Given the description of an element on the screen output the (x, y) to click on. 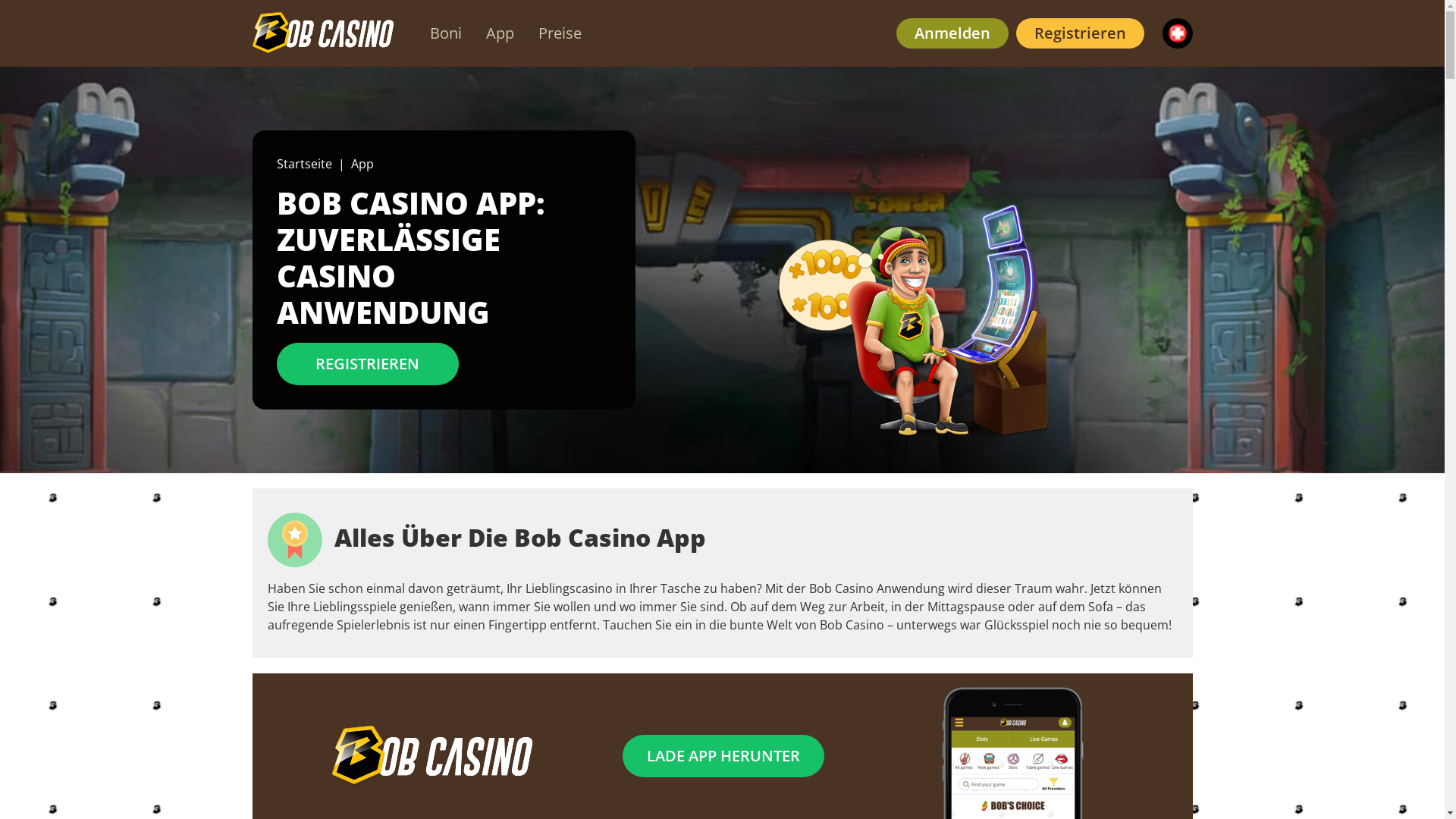
CH Element type: hover (1176, 33)
LADE APP HERUNTER Element type: text (722, 755)
Bob Casino Element type: hover (432, 755)
icon Element type: hover (293, 539)
Bob Casino Element type: hover (321, 33)
Startseite Element type: text (303, 163)
Boni Element type: text (445, 33)
Bob Casino Schweiz Element type: hover (722, 269)
REGISTRIEREN Element type: text (367, 363)
Anmelden Element type: text (952, 33)
Bob Casino App Element type: hover (914, 321)
App Element type: text (499, 33)
Registrieren Element type: text (1080, 33)
Preise Element type: text (559, 33)
